Given the description of an element on the screen output the (x, y) to click on. 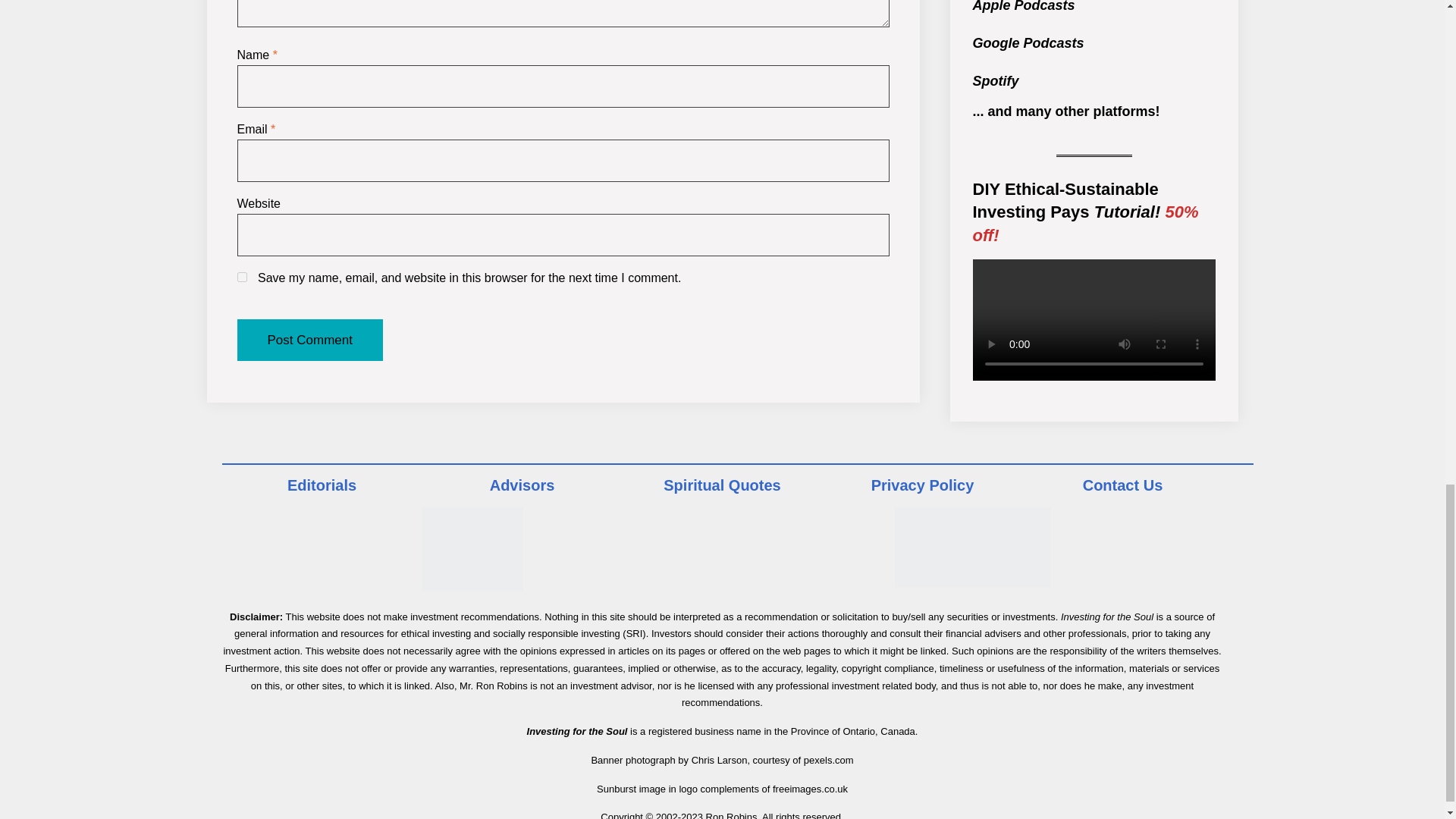
Post Comment (308, 340)
yes (240, 276)
Post Comment (308, 340)
